Given the description of an element on the screen output the (x, y) to click on. 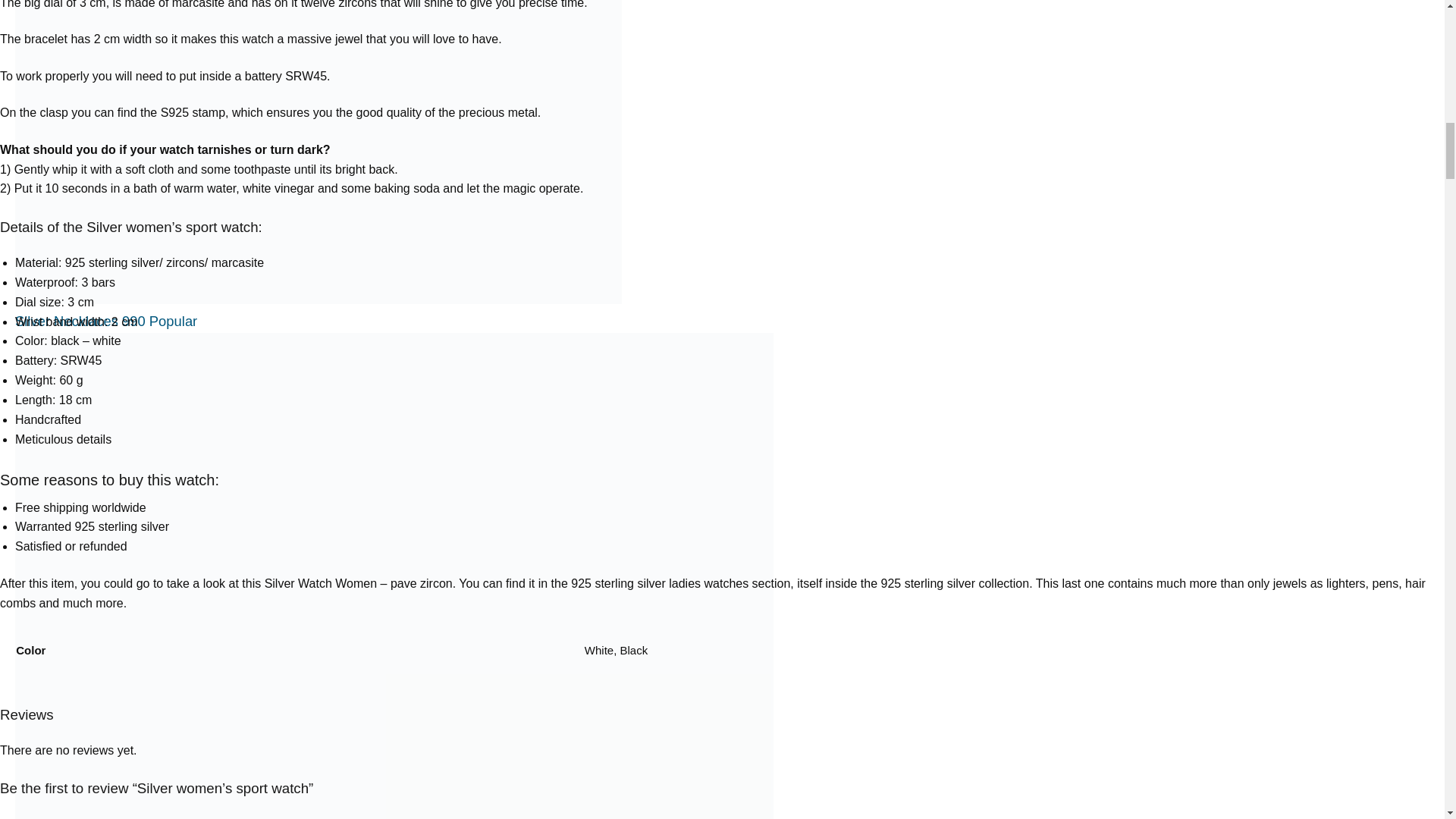
Silver Necklaces 990 (105, 320)
